Given the description of an element on the screen output the (x, y) to click on. 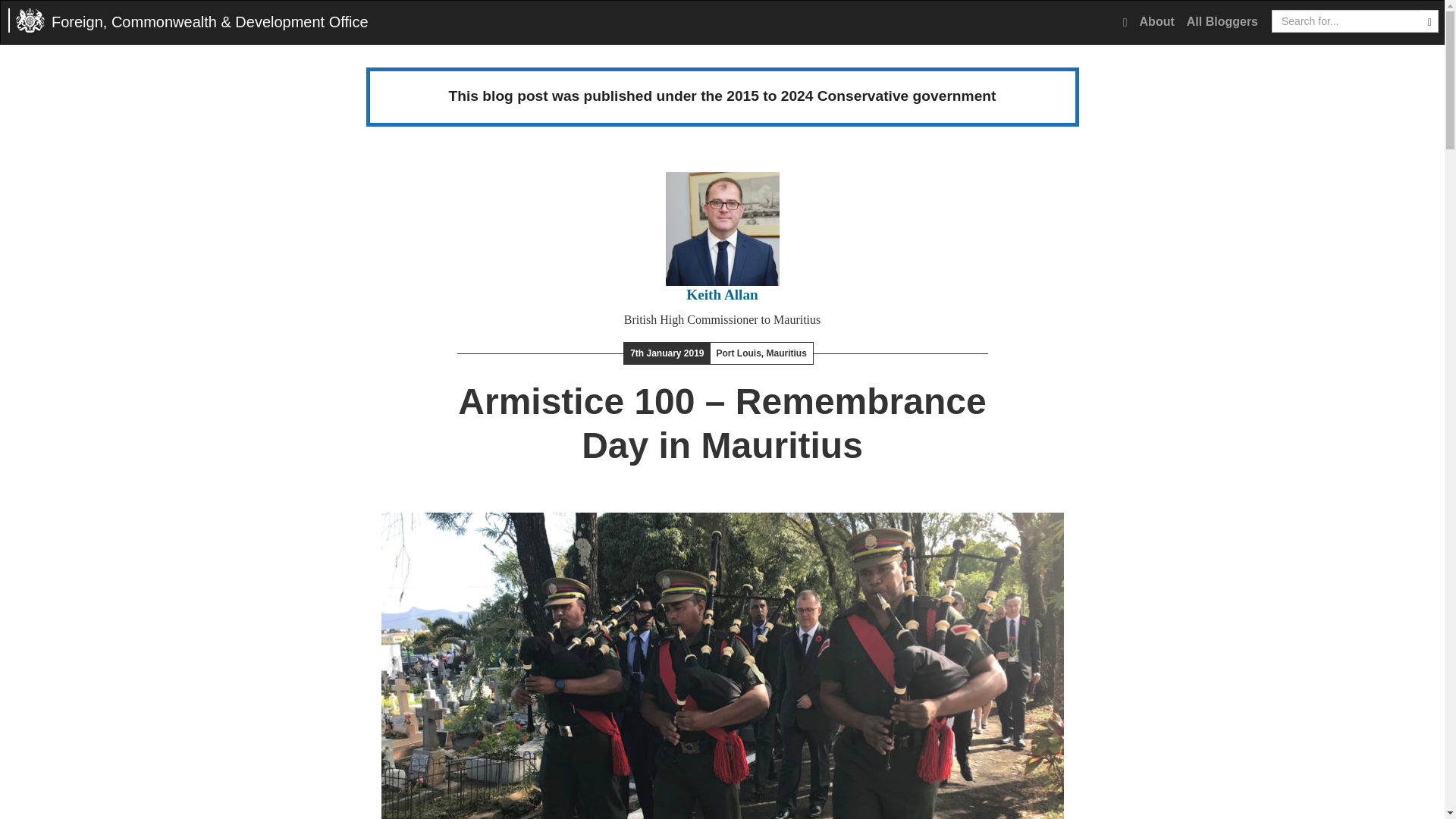
About (1157, 21)
About (1157, 21)
Keith Allan (721, 294)
All Bloggers (1221, 21)
All Bloggers (1221, 21)
